Given the description of an element on the screen output the (x, y) to click on. 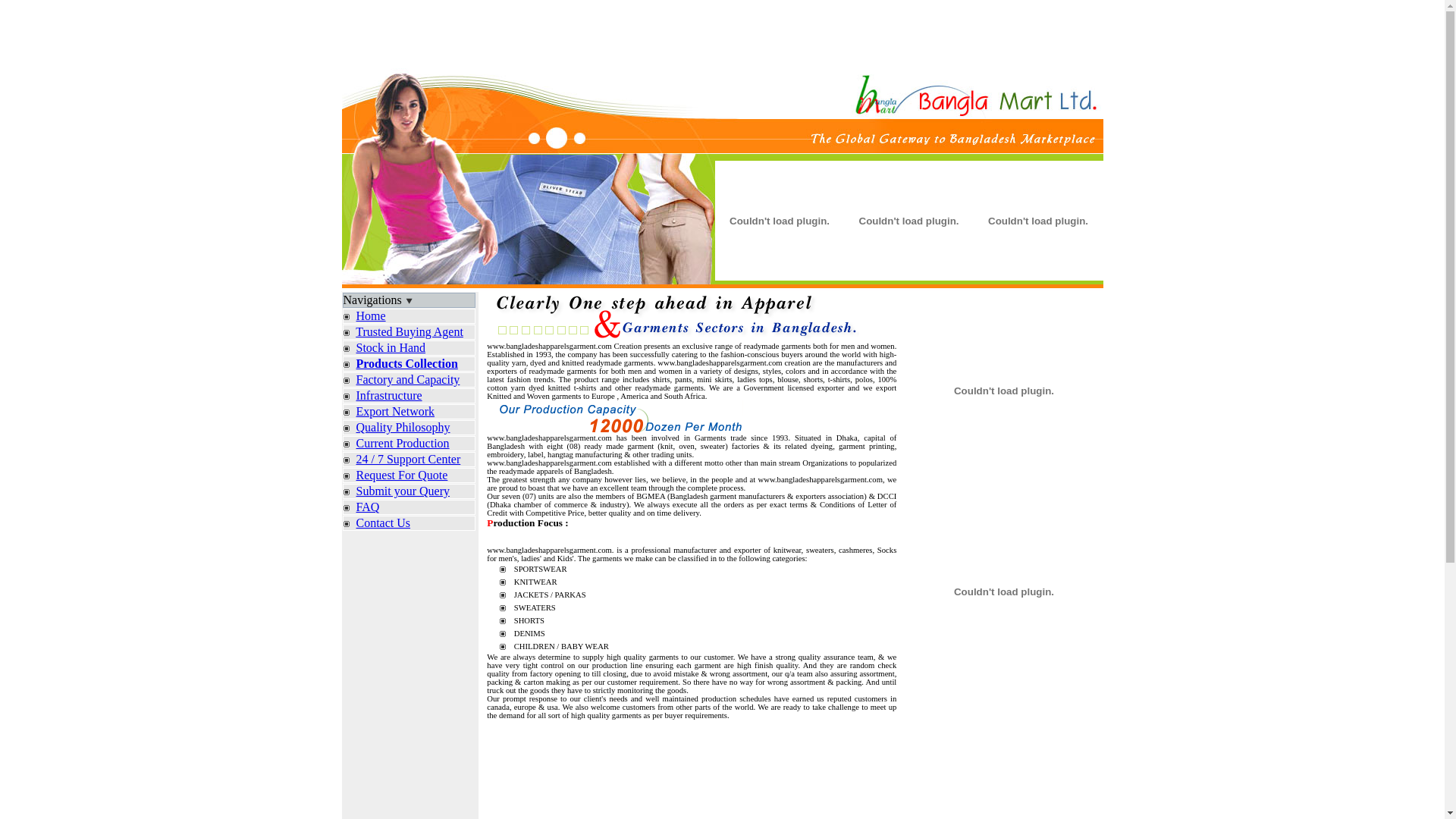
Home Element type: text (407, 316)
Trusted Buying Agent Element type: text (407, 331)
Export Network Element type: text (395, 410)
Advertisement Element type: hover (721, 34)
www.bangladeshapparelsgarment.com Element type: text (548, 437)
www.bangladeshapparelsgarment.com Element type: text (548, 462)
Contact Us Element type: text (407, 523)
Request For Quote Element type: text (407, 475)
Quality Philosophy Element type: text (407, 427)
www.bangladeshapparelsgarment.com Element type: text (548, 550)
Stock in Hand Element type: text (391, 347)
Infrastructure Element type: text (389, 395)
Quality Philosophy Element type: text (403, 426)
24 / 7 Support Center Element type: text (408, 458)
Submit your Query Element type: text (407, 491)
Home Element type: text (370, 315)
Infrastructure Element type: text (407, 395)
Contact Us Element type: text (383, 522)
FAQ Element type: text (407, 507)
www.bangladeshapparelsgarment.com Element type: text (719, 362)
Current Production Element type: text (402, 442)
www.bangladeshapparelsgarment.com Element type: text (548, 346)
Request For Quote Element type: text (402, 474)
Submit your Query Element type: text (403, 490)
Factory and Capacity Element type: text (408, 379)
Factory and Capacity Element type: text (407, 379)
FAQ Element type: text (367, 506)
Products Collection Element type: text (407, 363)
Products Collection Element type: text (407, 363)
Current Production Element type: text (407, 443)
Trusted Buying Agent Element type: text (409, 331)
Stock in Hand Element type: text (407, 347)
Export Network Element type: text (407, 411)
www.bangladeshapparelsgarment.com Element type: text (820, 479)
24 / 7 Support Center Element type: text (407, 459)
